Given the description of an element on the screen output the (x, y) to click on. 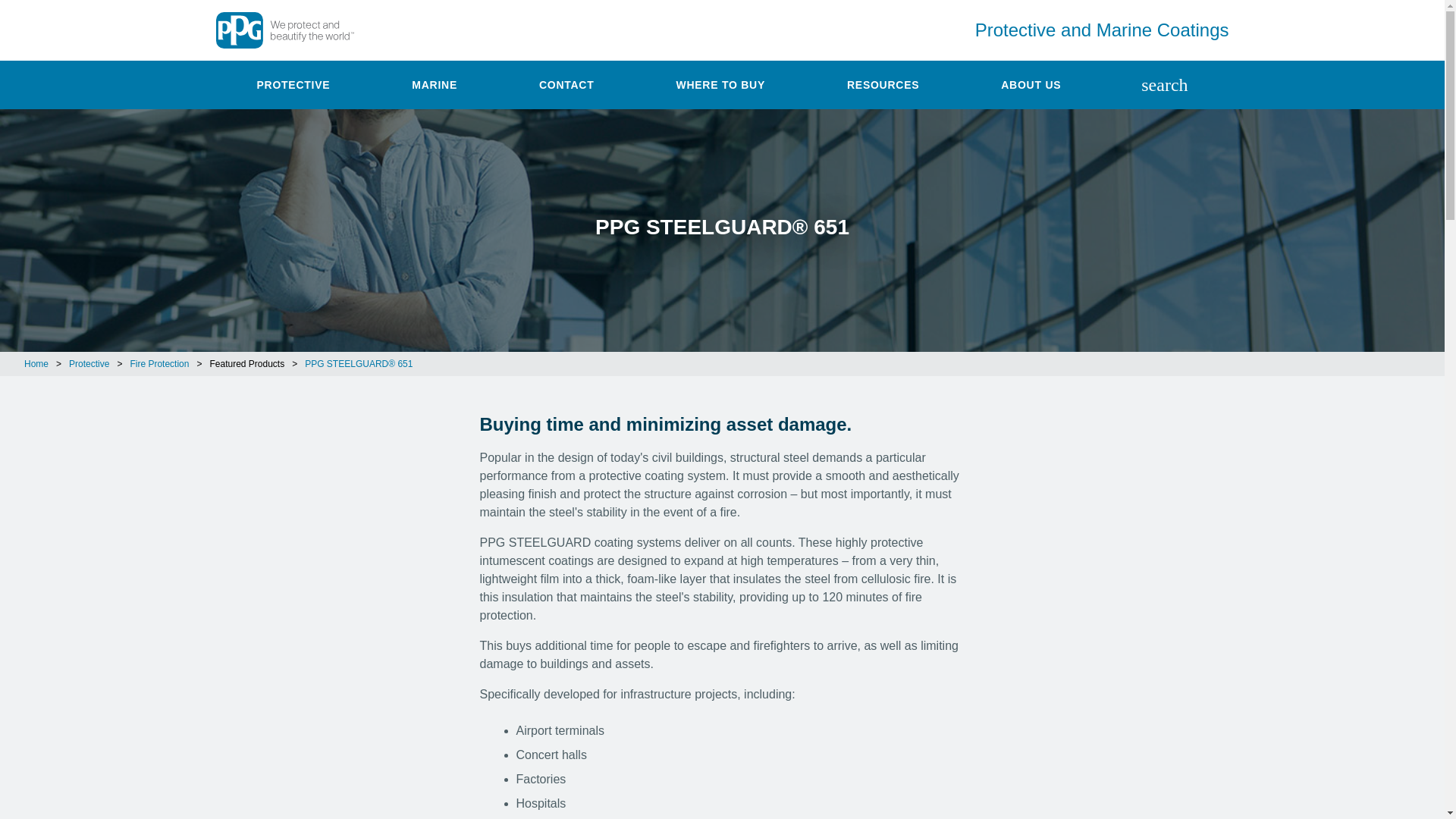
RESOURCES (882, 84)
MARINE (433, 84)
Marine (433, 84)
PPG We protect and beautify the world (290, 30)
CONTACT (567, 84)
WHERE TO BUY (720, 84)
Protective (293, 84)
PROTECTIVE (293, 84)
Protective and Marine Coatings (1091, 30)
Protective and Marine Coatings (1091, 30)
